Given the description of an element on the screen output the (x, y) to click on. 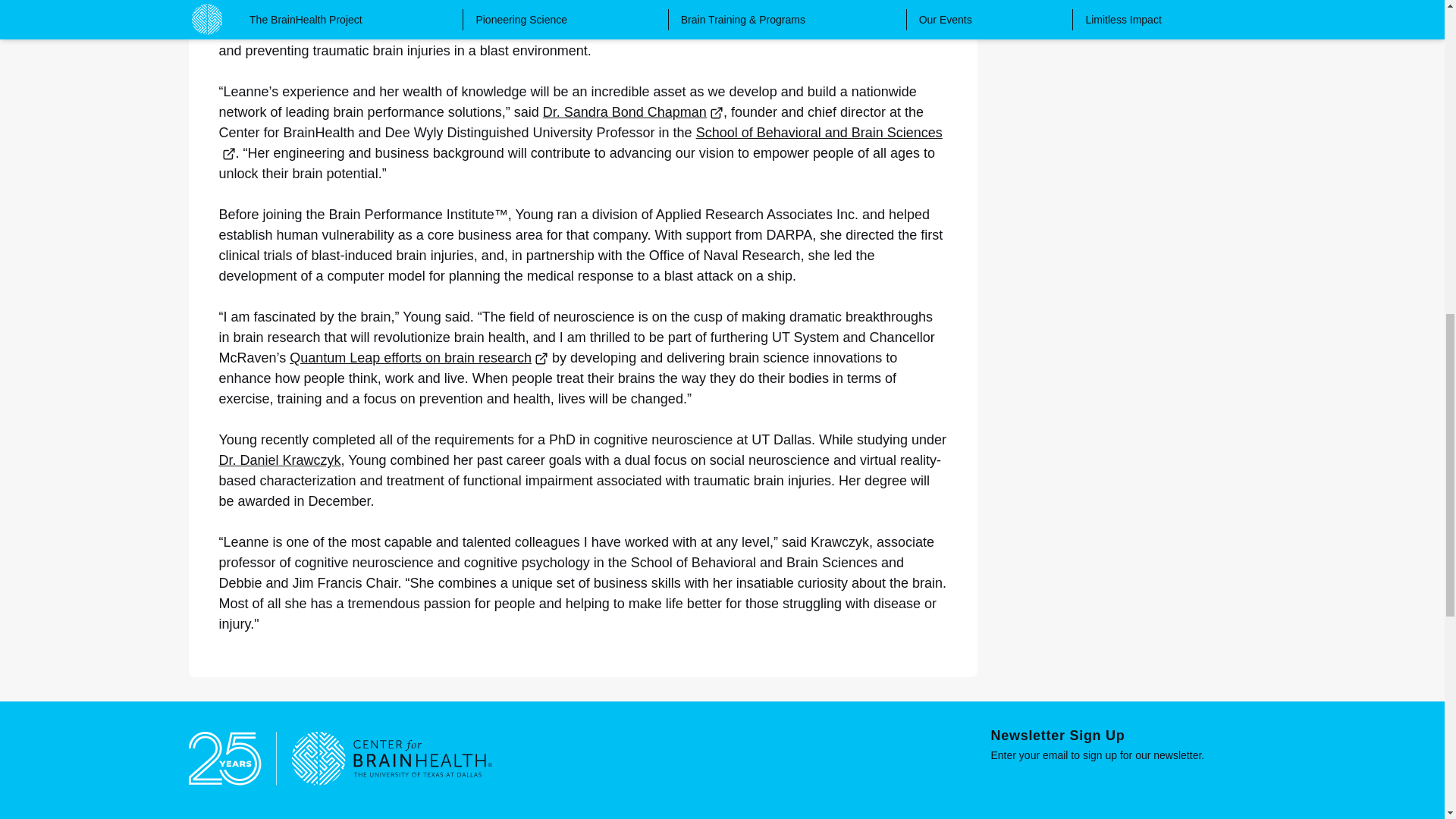
Quantum Leap efforts on brain research (418, 357)
Dr. Daniel Krawczyk (279, 459)
iframe (1122, 787)
School of Behavioral and Brain Sciences (580, 142)
Dr. Sandra Bond Chapman (633, 111)
